Given the description of an element on the screen output the (x, y) to click on. 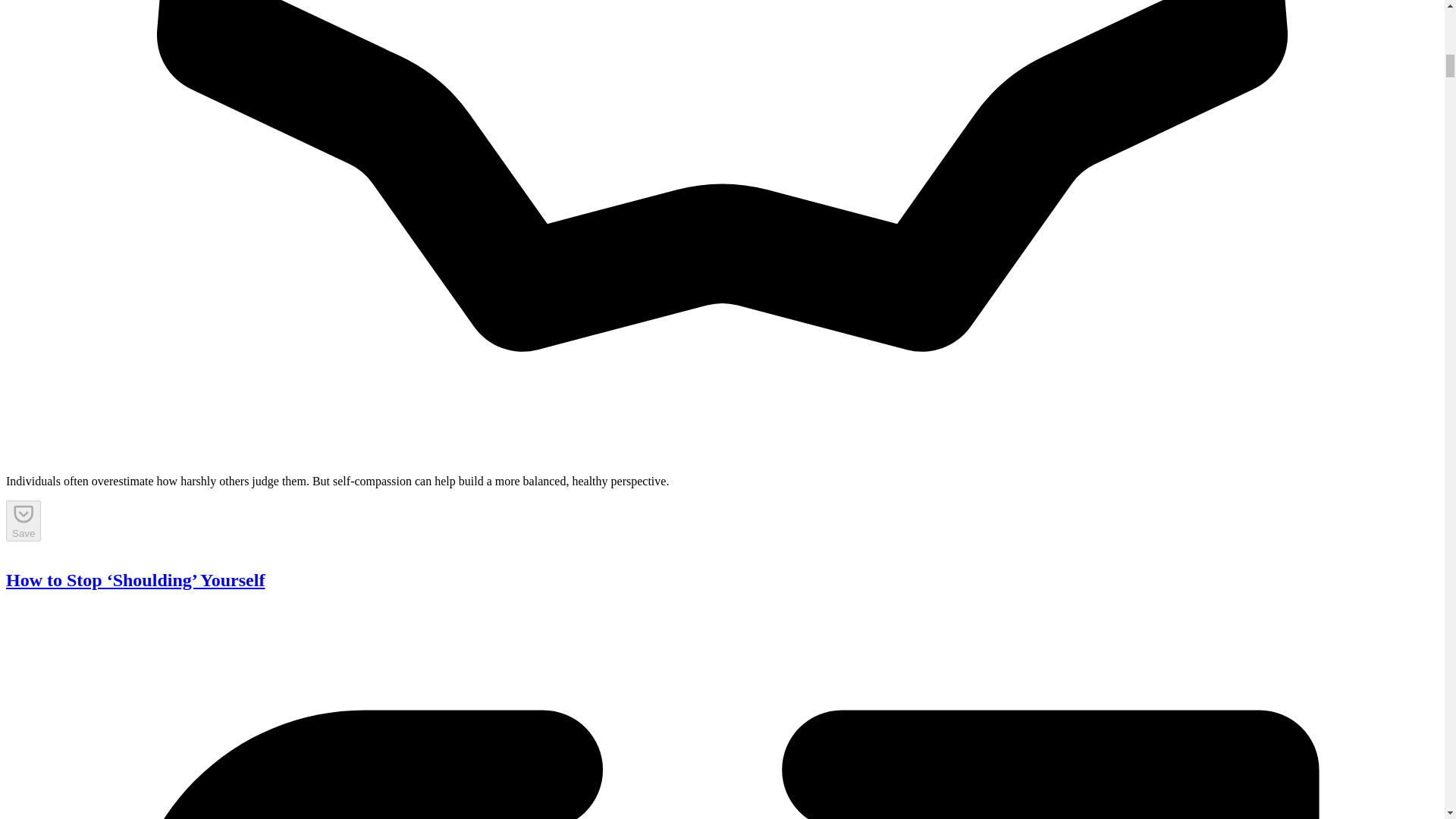
Save (22, 520)
